Given the description of an element on the screen output the (x, y) to click on. 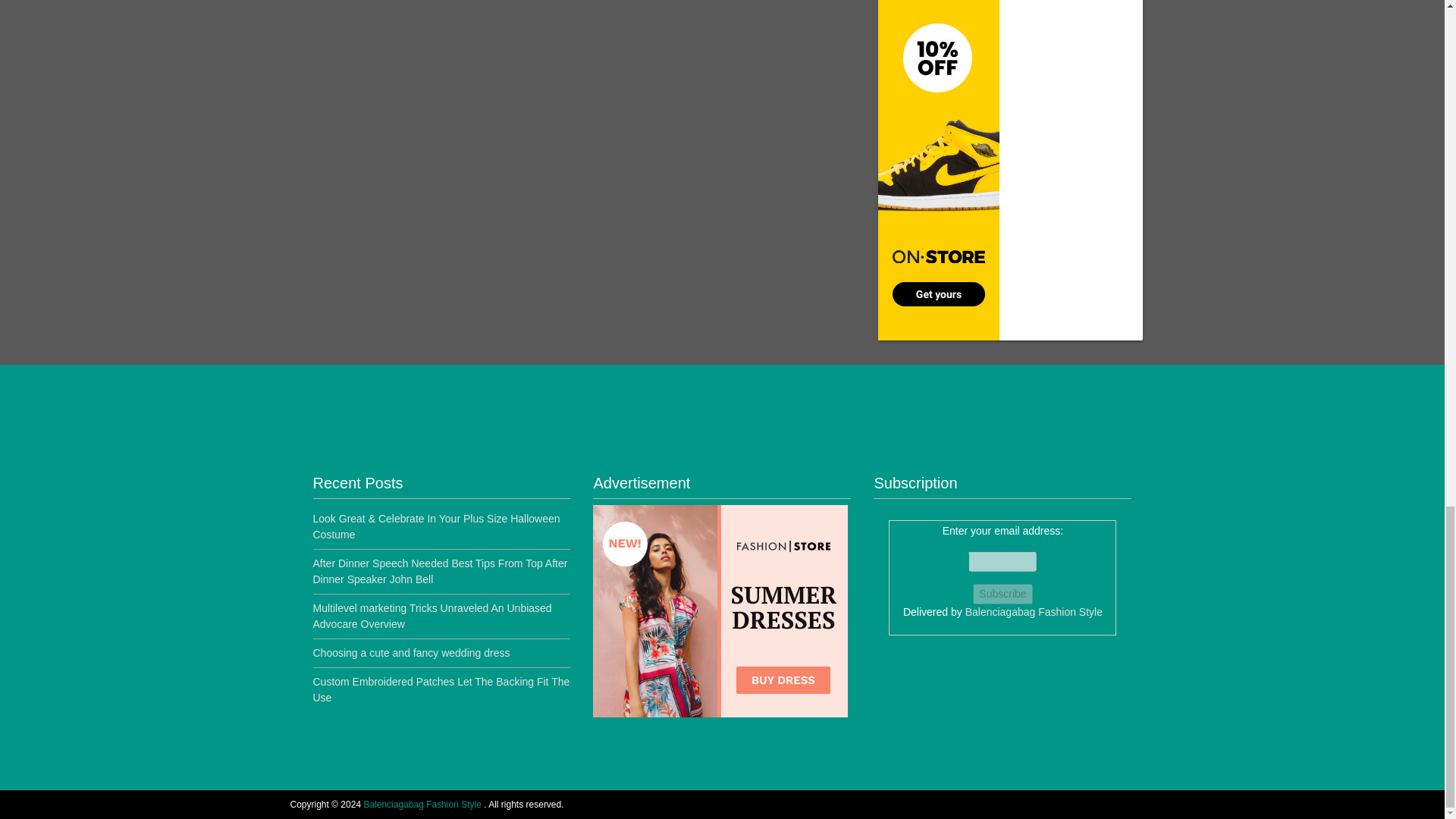
Subscribe (1002, 593)
